Given the description of an element on the screen output the (x, y) to click on. 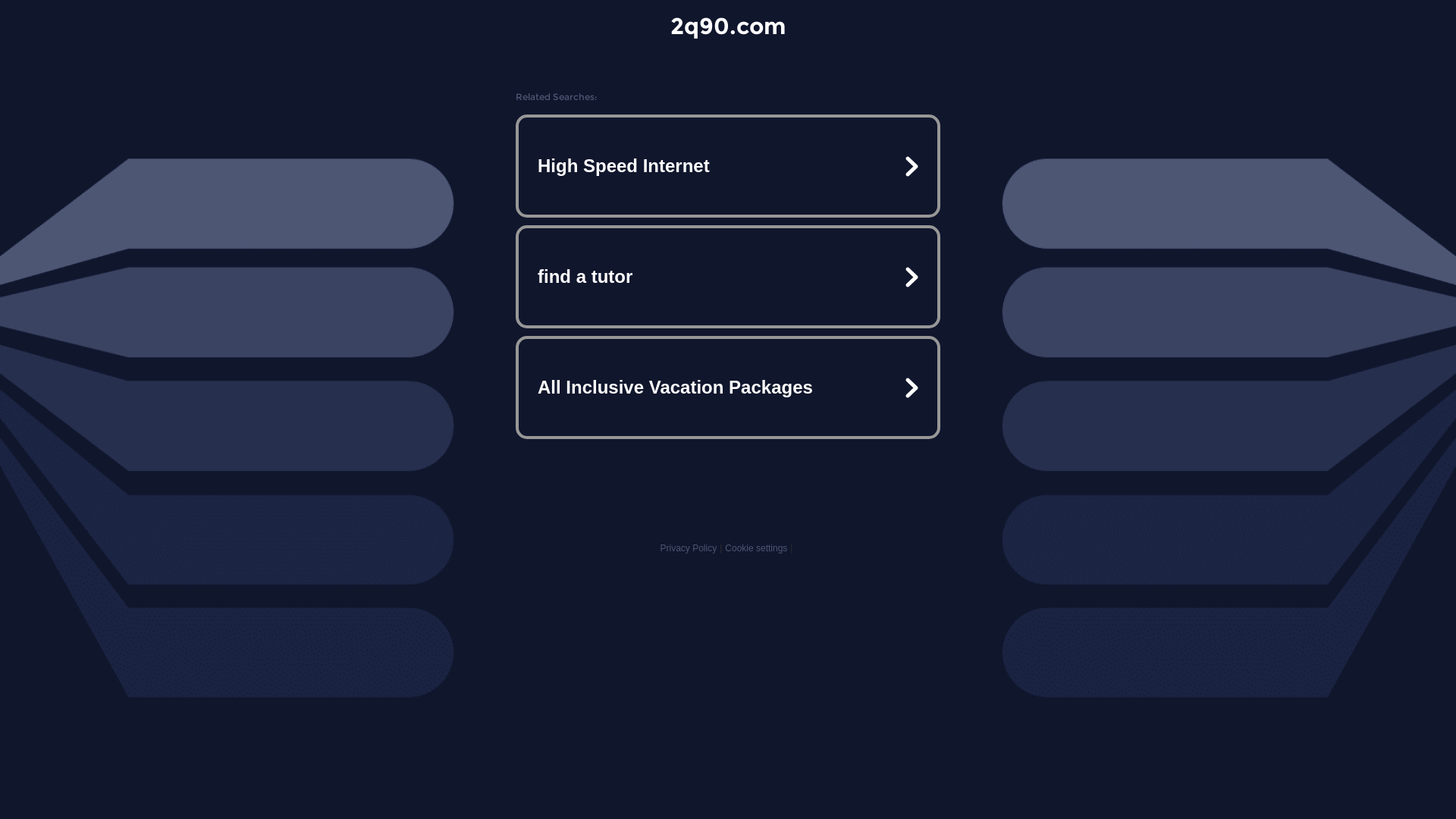
Privacy Policy Element type: text (687, 547)
2q90.com Element type: text (727, 26)
find a tutor Element type: text (727, 276)
All Inclusive Vacation Packages Element type: text (727, 387)
High Speed Internet Element type: text (727, 165)
Cookie settings Element type: text (755, 547)
